Given the description of an element on the screen output the (x, y) to click on. 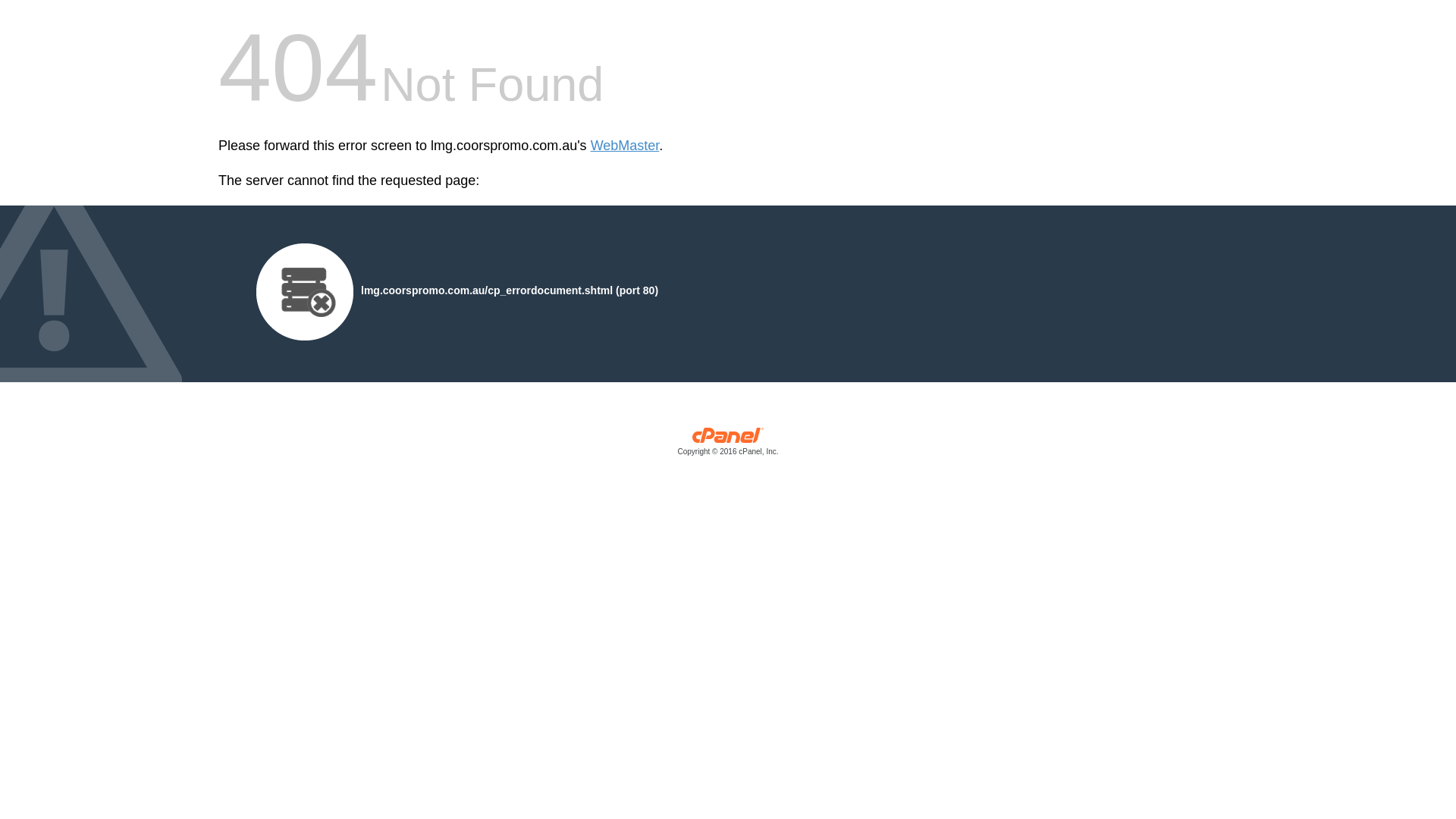
WebMaster Element type: text (624, 145)
